Given the description of an element on the screen output the (x, y) to click on. 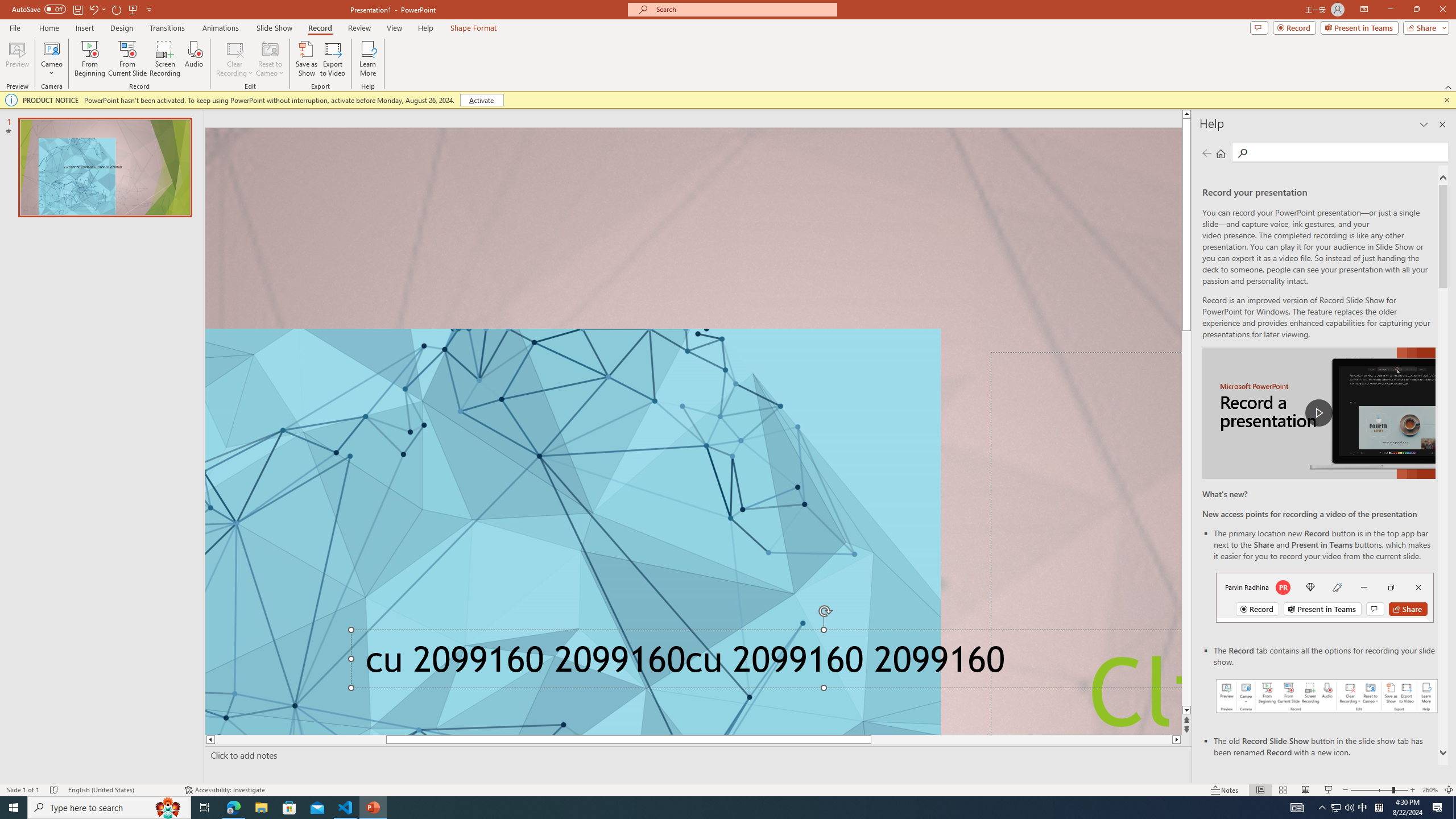
play Record a Presentation (1318, 412)
Previous page (1206, 152)
Zoom 260% (1430, 790)
